Given the description of an element on the screen output the (x, y) to click on. 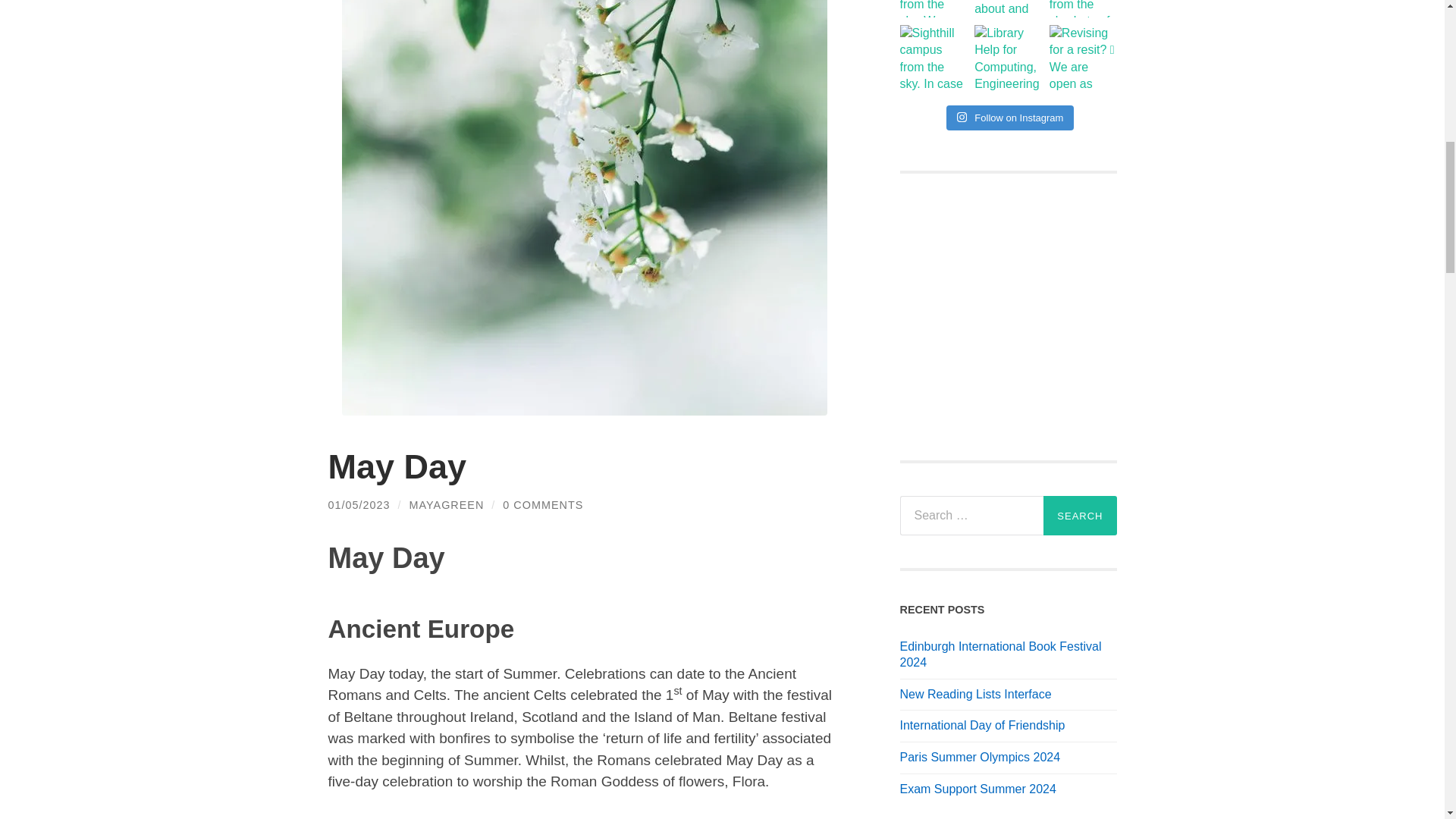
May Day (396, 466)
0 COMMENTS (542, 504)
Search (1079, 515)
Search (1079, 515)
Posts by mayagreen (446, 504)
MAYAGREEN (446, 504)
